Given the description of an element on the screen output the (x, y) to click on. 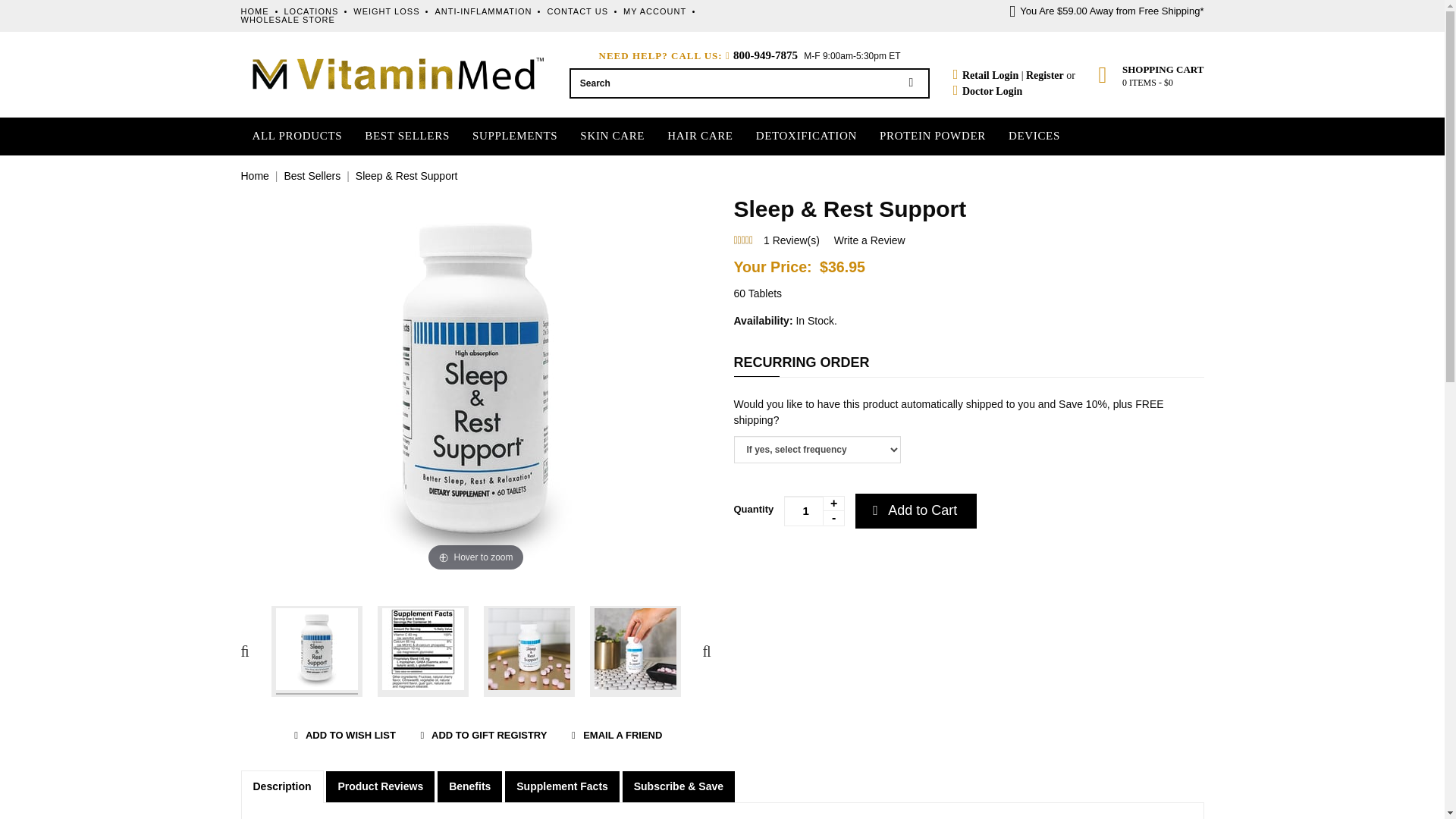
Retail Login (985, 75)
Doctor Login (992, 91)
1 (814, 511)
Register (1045, 75)
HAIR CARE (699, 135)
Home (255, 175)
DEVICES (1034, 135)
WEIGHT LOSS (386, 11)
SUPPLEMENTS (514, 135)
LOCATIONS (310, 11)
Hover to zoom (475, 384)
BEST SELLERS (406, 135)
MY ACCOUNT (654, 11)
HOME (255, 11)
DETOXIFICATION (806, 135)
